Given the description of an element on the screen output the (x, y) to click on. 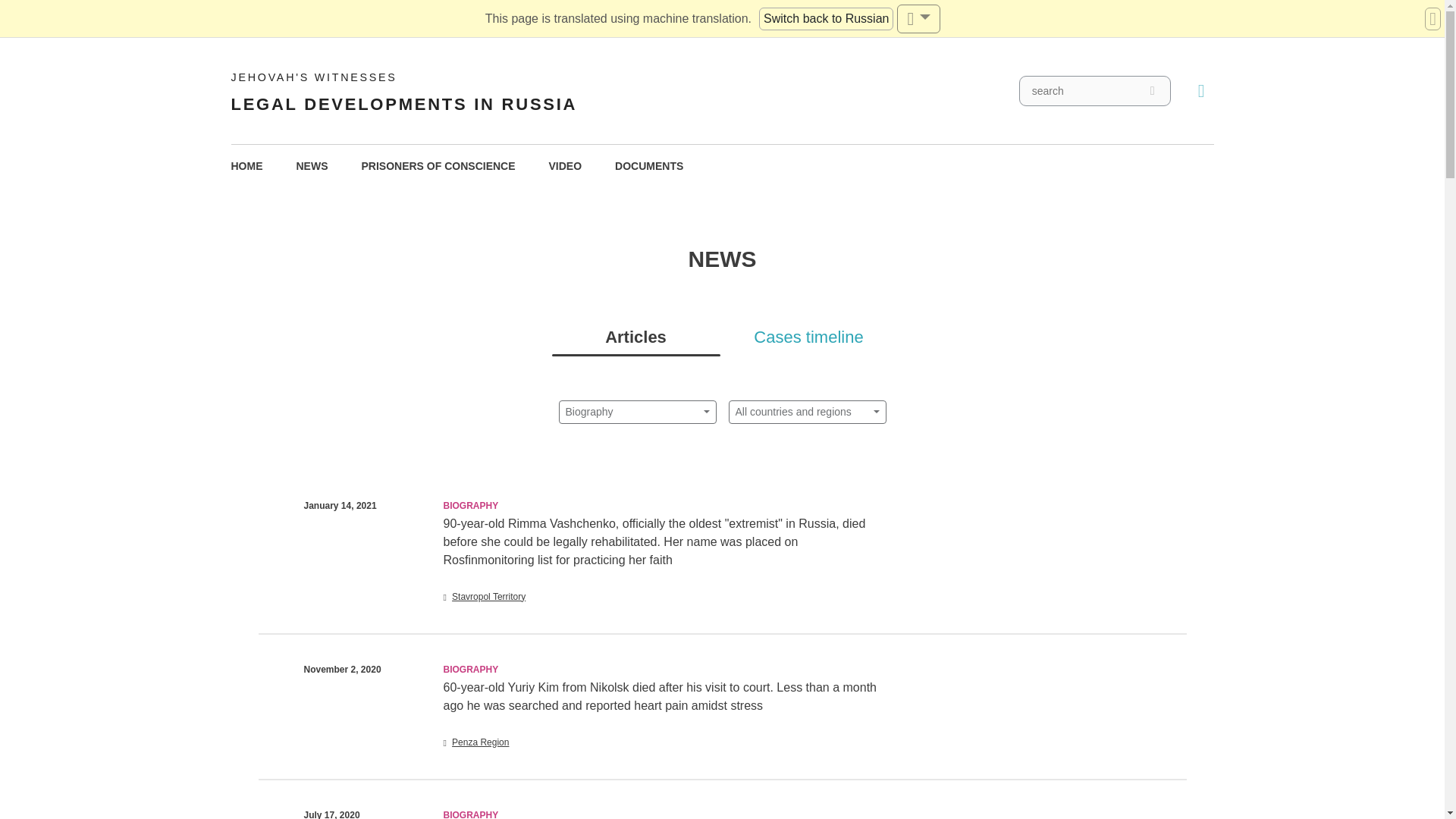
PRISONERS OF CONSCIENCE (403, 90)
Switch back to Russian (438, 166)
Cases timeline (825, 18)
Biography (808, 336)
DOCUMENTS (636, 412)
VIDEO (649, 166)
HOME (565, 166)
Articles (245, 166)
NEWS (635, 336)
